Given the description of an element on the screen output the (x, y) to click on. 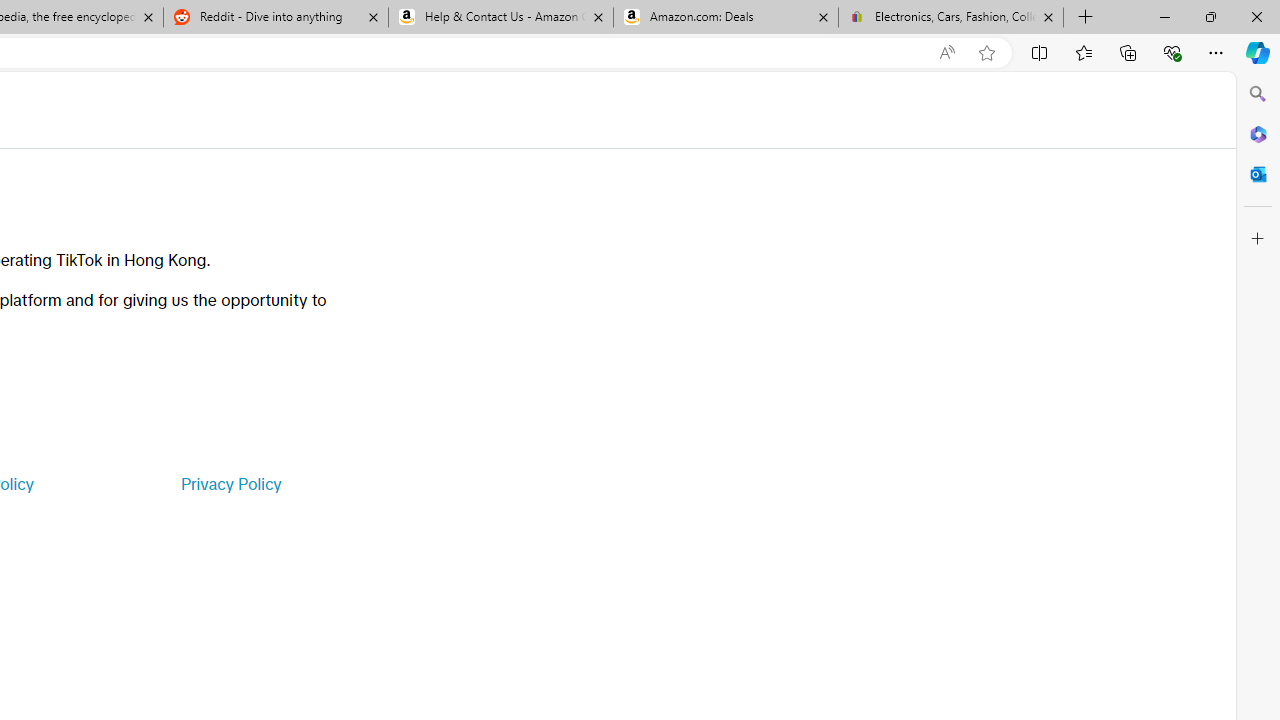
Help & Contact Us - Amazon Customer Service (501, 17)
